Given the description of an element on the screen output the (x, y) to click on. 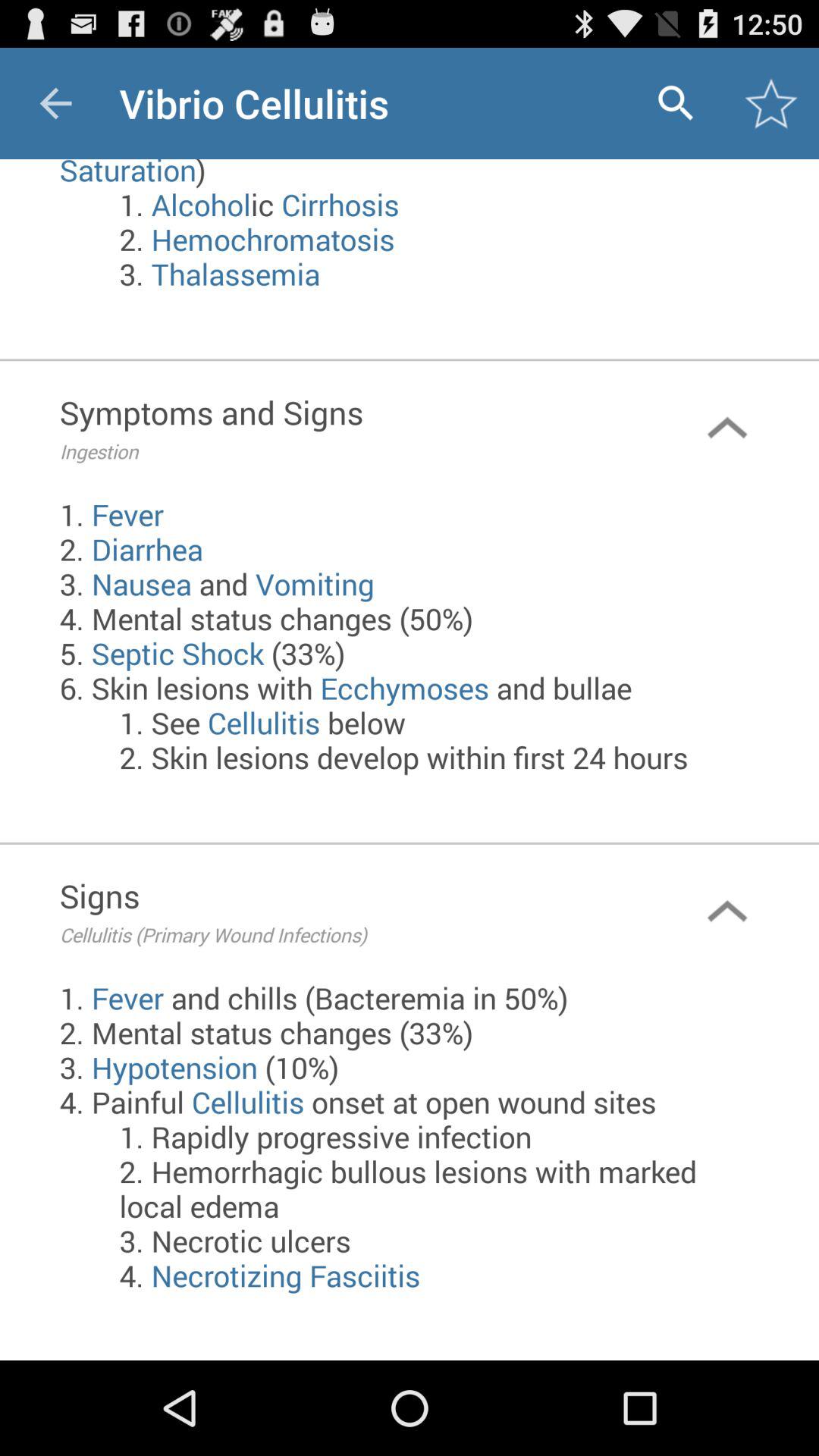
launch the icon above 1 fever 2 (347, 427)
